Given the description of an element on the screen output the (x, y) to click on. 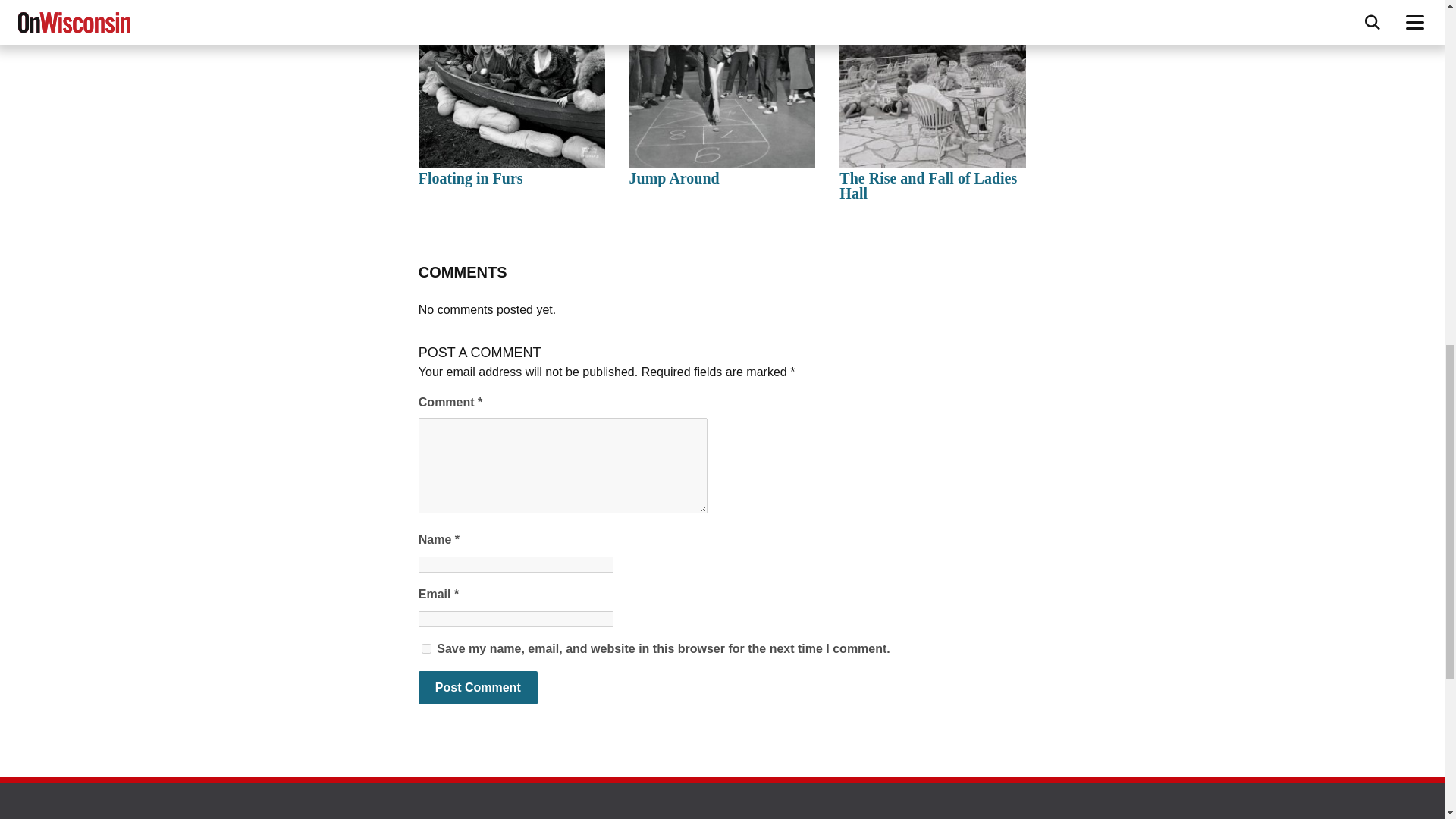
The Rise and Fall of Ladies Hall (928, 185)
Post Comment (478, 687)
Jump Around (673, 177)
Floating in Furs (470, 177)
yes (426, 648)
Post Comment (478, 687)
